Given the description of an element on the screen output the (x, y) to click on. 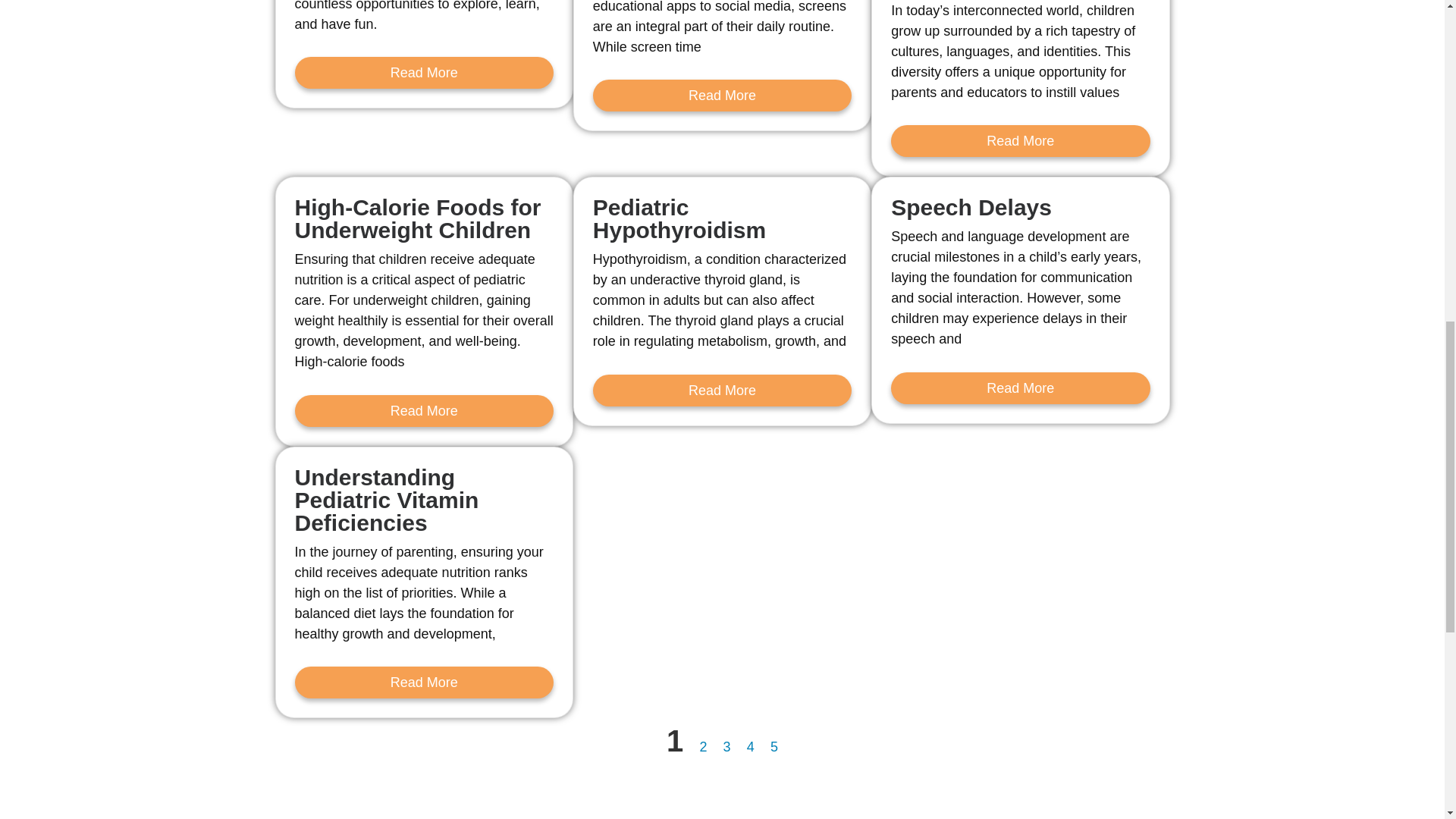
Read More (423, 72)
Read More (721, 95)
Read More (423, 410)
Read More (1020, 141)
